Given the description of an element on the screen output the (x, y) to click on. 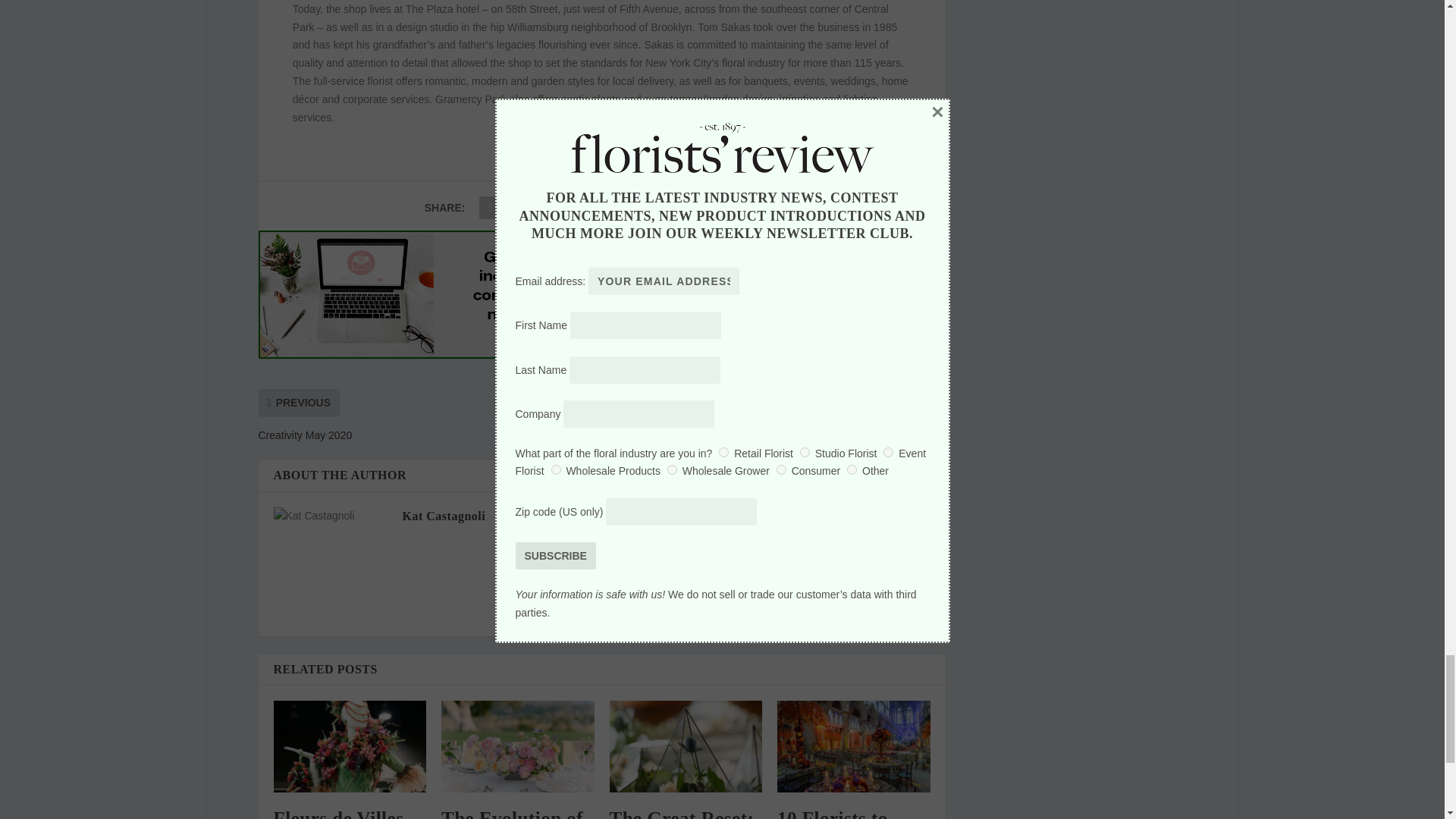
Share "Big City Blooms" via Pinterest (611, 207)
Share "Big City Blooms" via Facebook (490, 207)
Share "Big City Blooms" via Twitter (520, 207)
Share "Big City Blooms" via Tumblr (581, 207)
